Given the description of an element on the screen output the (x, y) to click on. 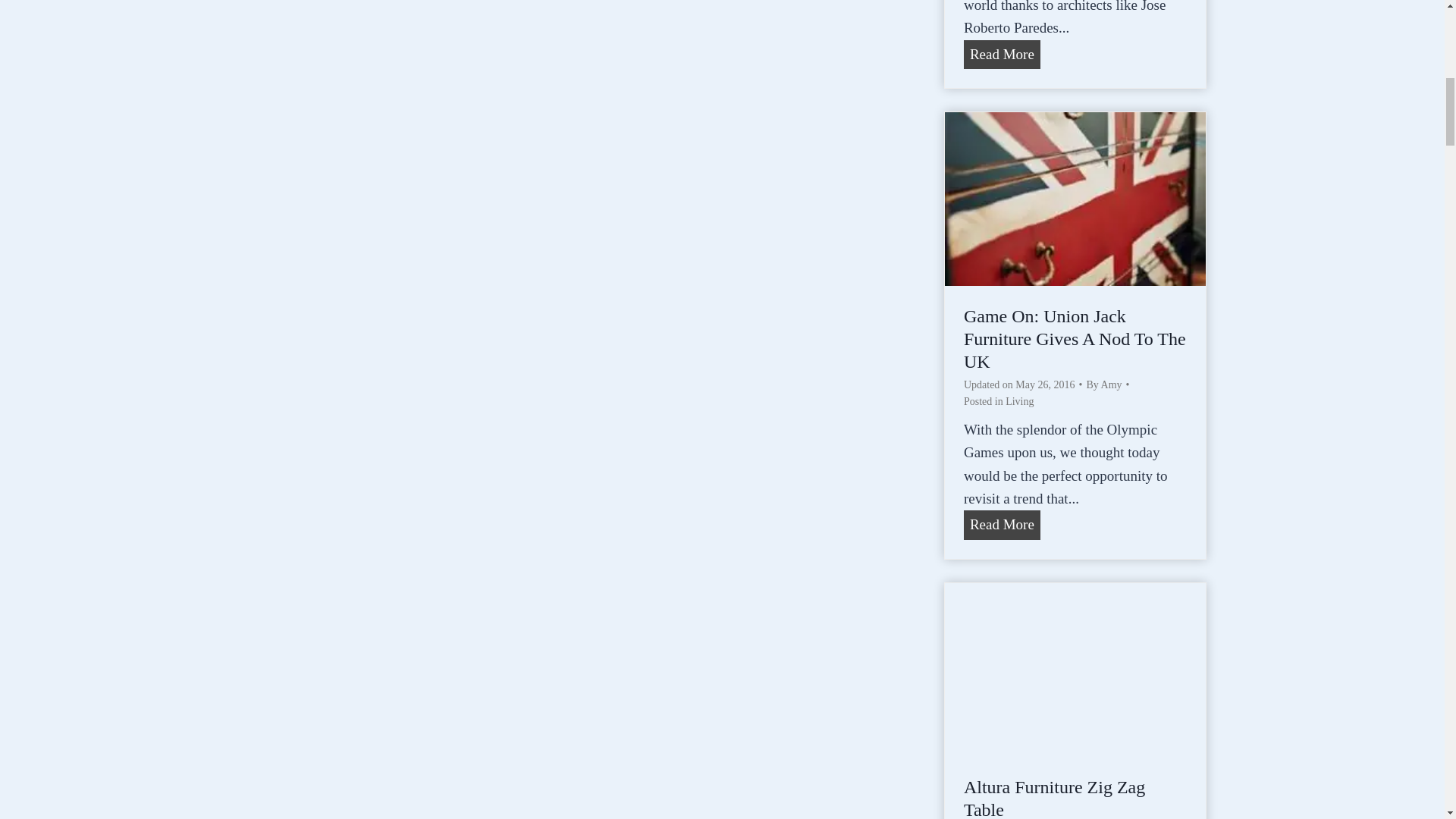
Altura Furniture Zig Zag Table 6 (1074, 669)
Game On: Union Jack Furniture Gives a Nod to the UK 5 (1074, 198)
